Given the description of an element on the screen output the (x, y) to click on. 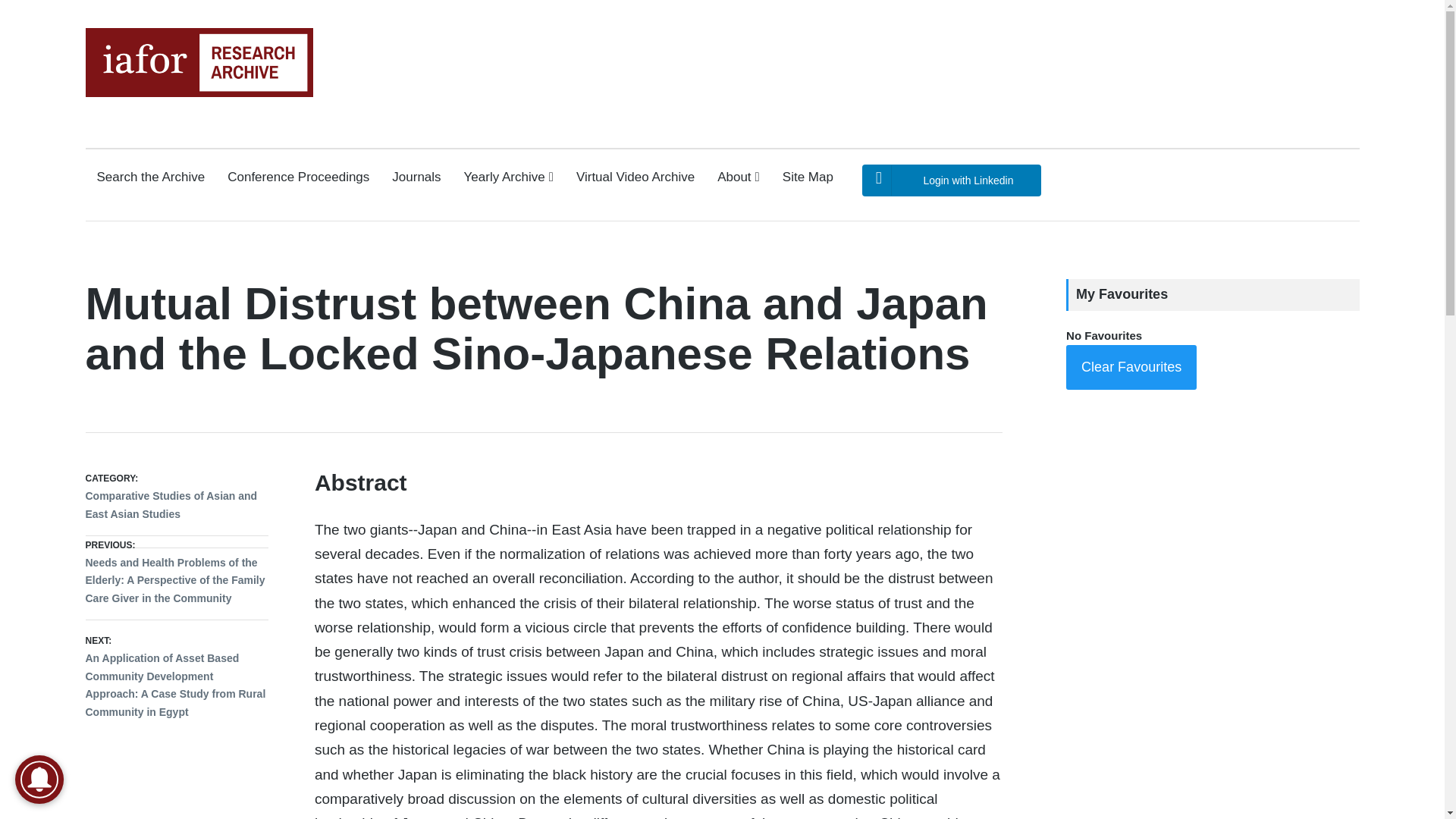
About (738, 177)
Site Map (807, 177)
Virtual Video Archive (635, 177)
Yearly Archive (508, 177)
Search the Archive (151, 177)
The IAFOR Research Archive (145, 110)
Conference Proceedings (298, 177)
Login with Linkedin (951, 180)
Journals (416, 177)
